Given the description of an element on the screen output the (x, y) to click on. 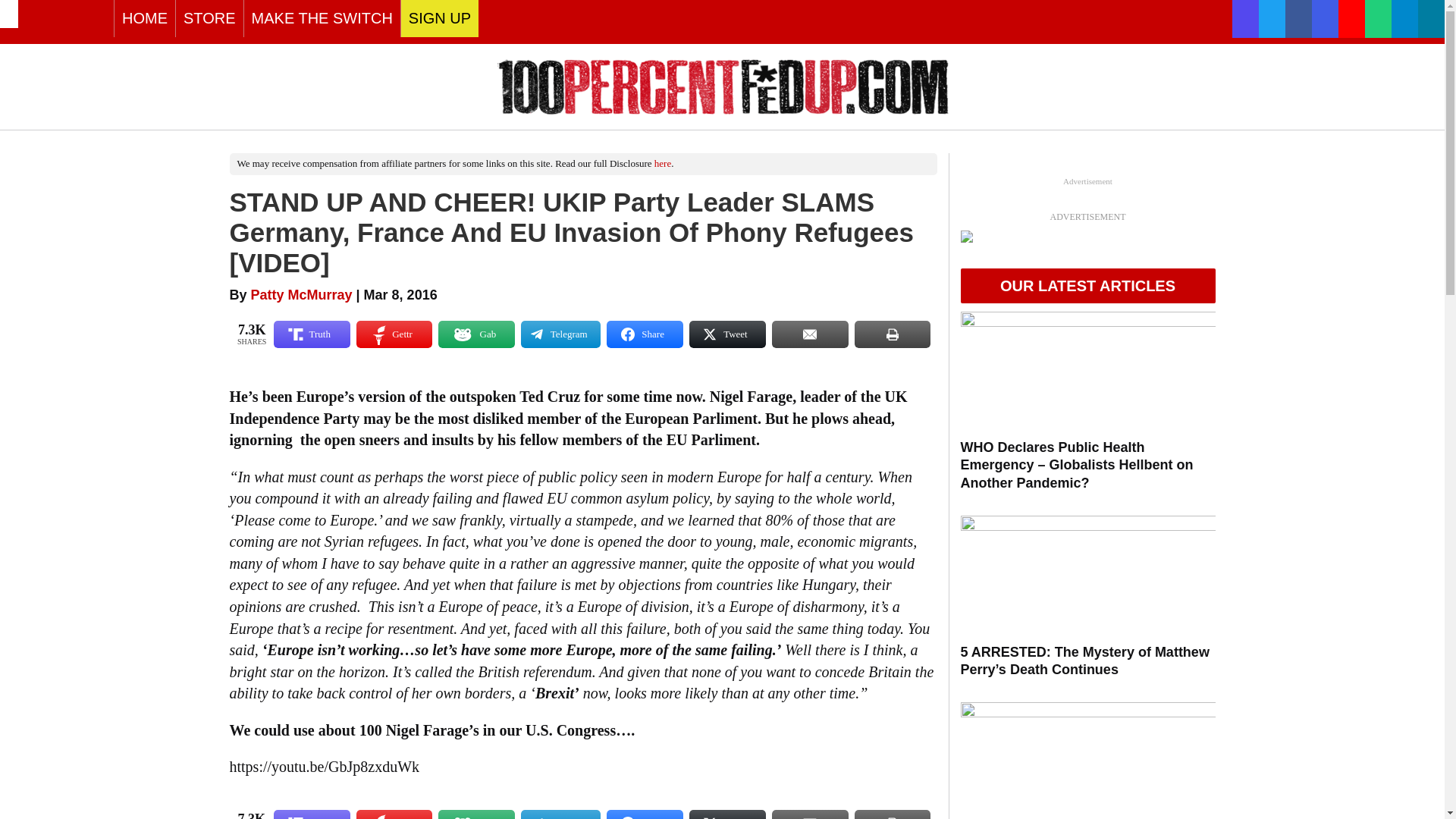
Telegram (560, 334)
Share on Share (644, 334)
Share on Gettr (394, 814)
Patty McMurray (301, 294)
STORE (209, 18)
Share (644, 334)
Share on Telegram (560, 334)
SIGN UP (440, 18)
Share on Gab (476, 334)
